Given the description of an element on the screen output the (x, y) to click on. 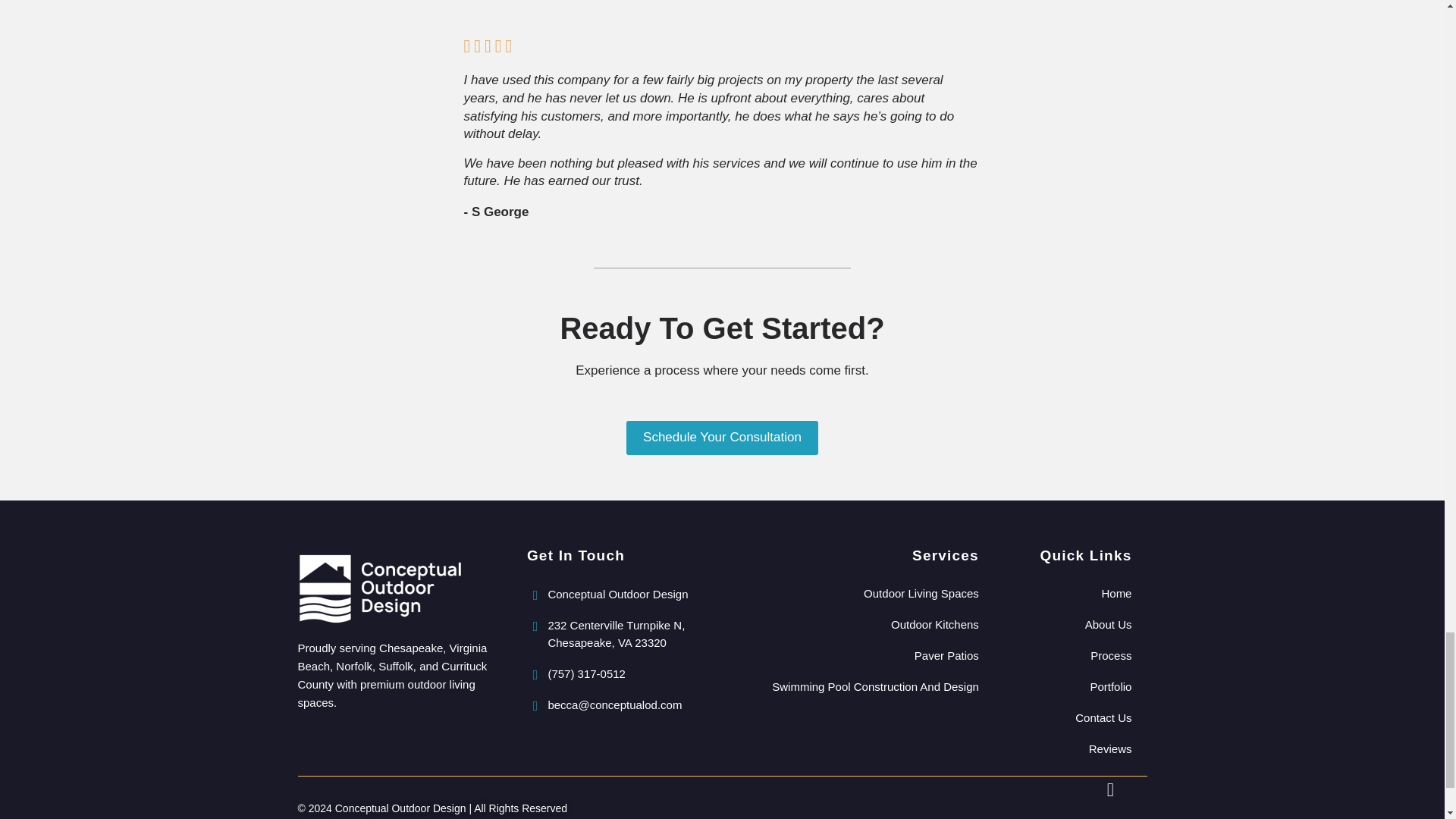
Home (1070, 593)
Contact Us (1070, 717)
Portfolio (1070, 685)
About Us (1070, 624)
Process (1070, 654)
Outdoor Living Spaces (857, 593)
Schedule Your Consultation (722, 437)
Outdoor Kitchens (857, 624)
Reviews (1070, 748)
Swimming Pool Construction And Design (857, 685)
Paver Patios (857, 654)
